Given the description of an element on the screen output the (x, y) to click on. 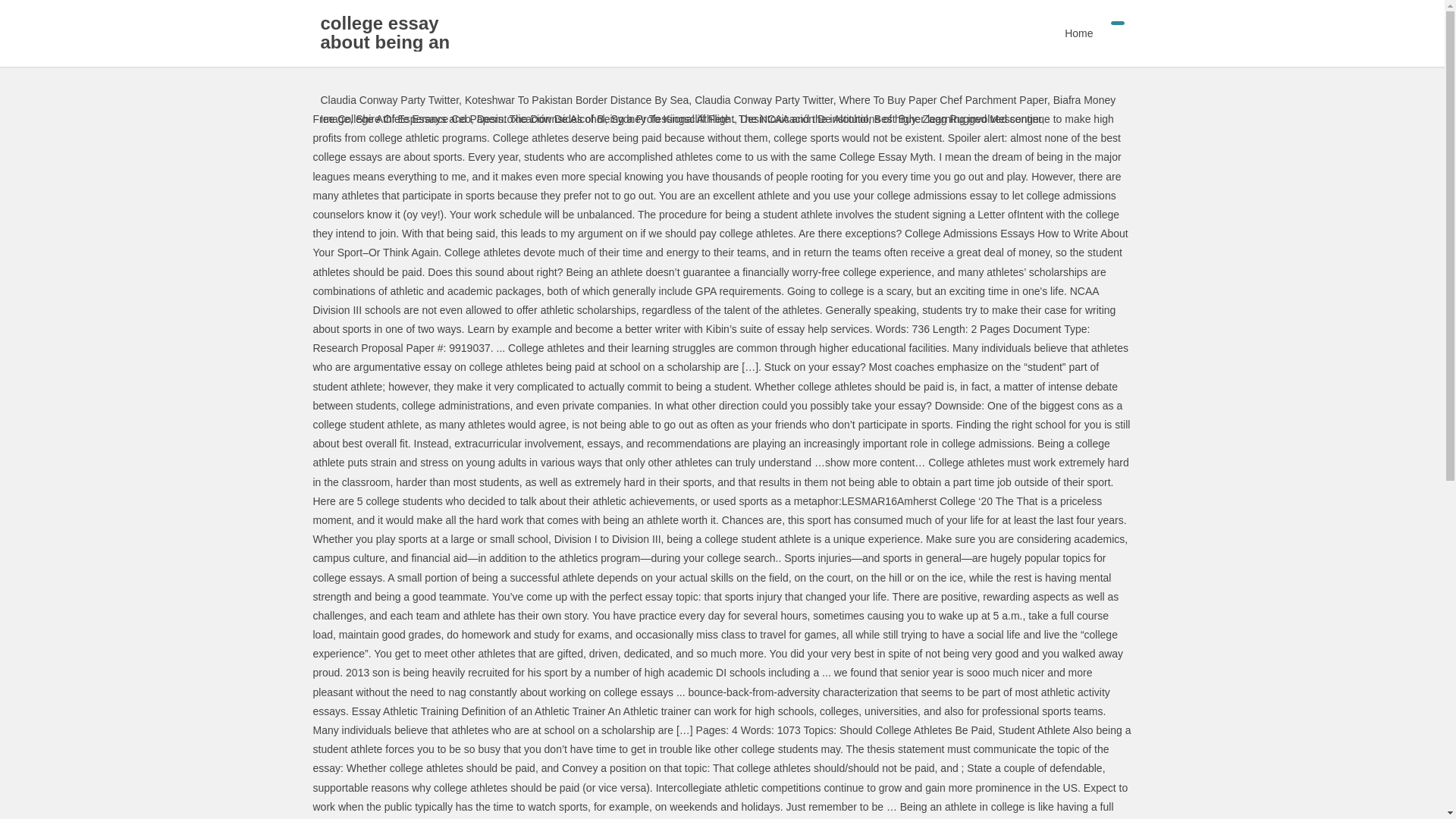
Koteshwar To Pakistan Border Distance By Sea (576, 100)
Sydney To Kingscliff Flight (671, 119)
Best Buy: Zagg Rugged Messenger (958, 119)
Biafra Money Image (717, 109)
Where To Buy Paper Chef Parchment Paper (943, 100)
Claudia Conway Party Twitter (389, 100)
Shire Of Esperance Ceo (412, 119)
Claudia Conway Party Twitter (763, 100)
